Given the description of an element on the screen output the (x, y) to click on. 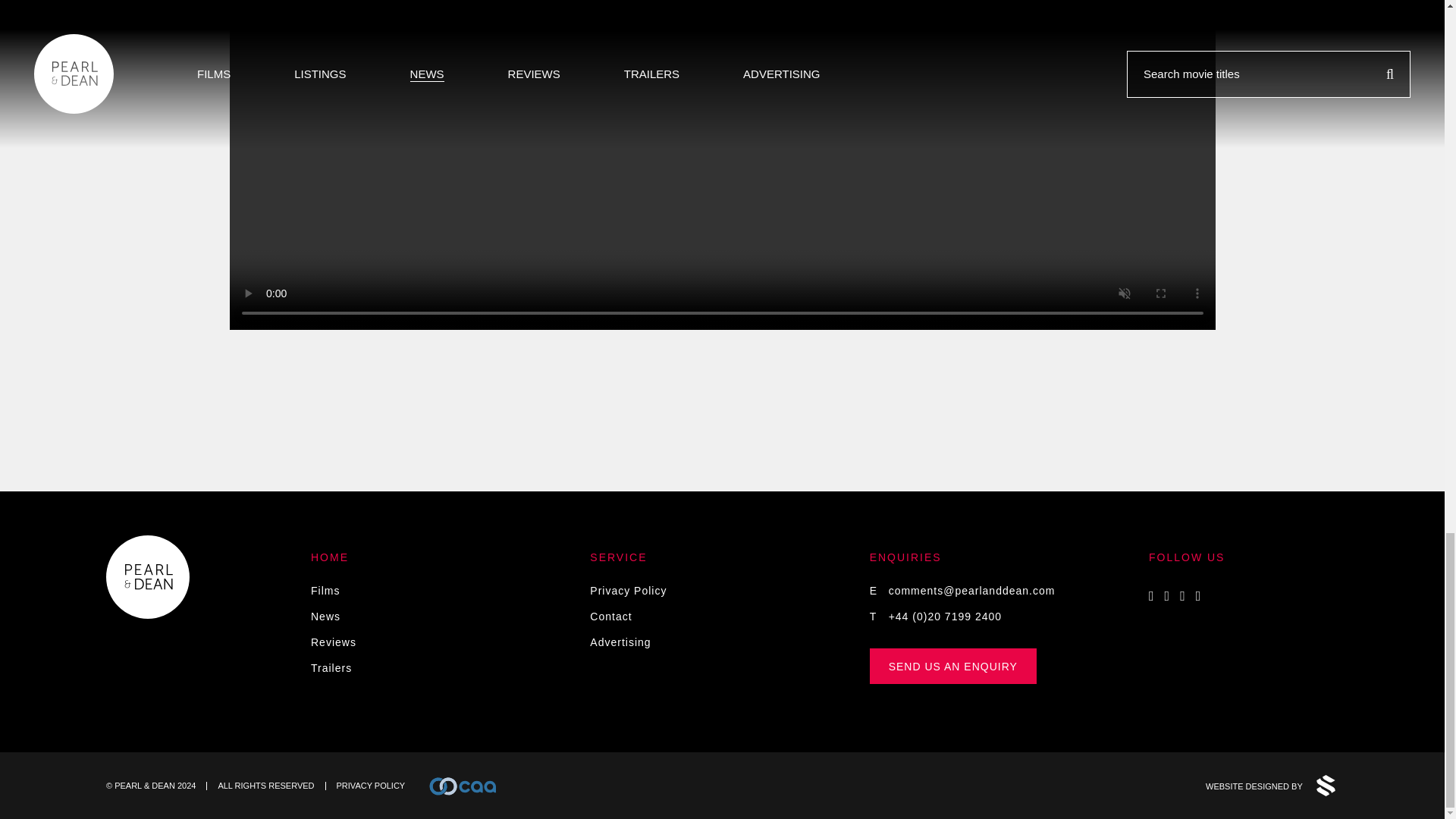
Contact (610, 616)
Trailers (331, 667)
PRIVACY POLICY (371, 785)
Reviews (333, 642)
SEND US AN ENQUIRY (952, 665)
WEBSITE DESIGNED BY (1271, 785)
News (325, 616)
Privacy Policy (627, 590)
Films (325, 590)
Website Designed By SO Marketing (1271, 785)
HOME (330, 557)
Advertising (619, 642)
